Given the description of an element on the screen output the (x, y) to click on. 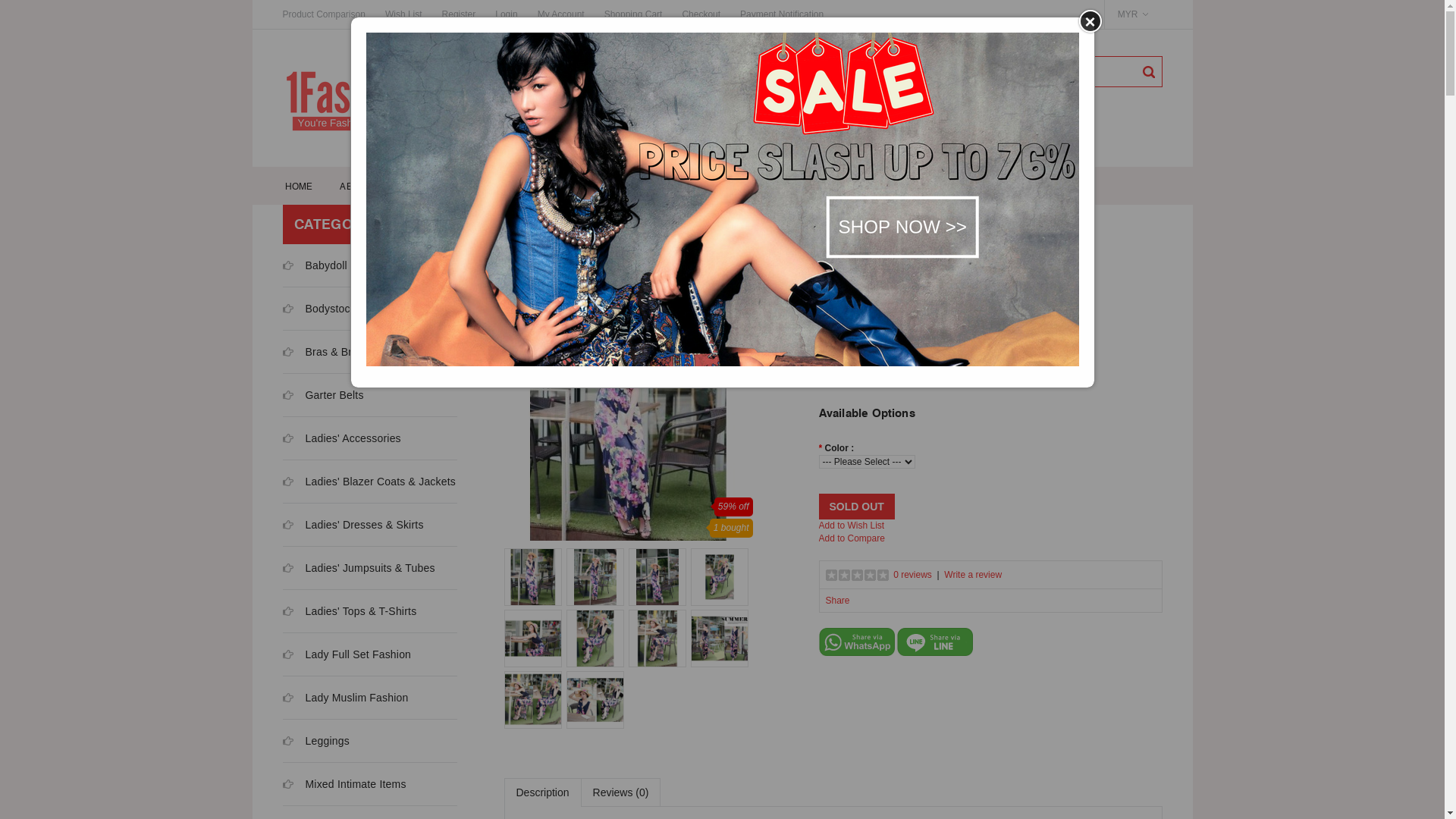
Fashion Bohemian Floral Design Long Maxi Dress Element type: hover (532, 699)
Wish List Element type: text (403, 14)
Fashion Bohemian Floral Design Long Maxi Dress Element type: hover (721, 576)
Garter Belts Element type: text (333, 395)
Lady Muslim Fashion Element type: text (355, 697)
TESTIMONIAL Element type: text (912, 185)
Fashion Bohemian Floral Design Long Maxi Dress Element type: hover (656, 576)
Fashion Bohemian Floral Design Long Maxi Dress Element type: hover (718, 576)
Write a review Element type: text (972, 574)
Fashion Bohemian Floral Design Long Maxi Dress Element type: hover (658, 576)
Fashion Bohemian Floral Design Long Maxi Dress Element type: hover (656, 638)
Leggings Element type: text (326, 740)
Fashion Bohemian Floral Design Long Maxi Dress Element type: hover (534, 638)
Babydoll Element type: text (325, 265)
Fashion Bohemian Floral Design Long Maxi Dress Element type: hover (594, 699)
Share Element type: text (837, 600)
Ladies' Dresses & Skirts Element type: text (363, 524)
HOME Element type: text (298, 185)
Fashion Bohemian Floral Design Long Maxi Dress Element type: hover (596, 576)
0 reviews Element type: text (912, 574)
Fashion Bohemian Floral Design Long Maxi Dress Element type: hover (534, 576)
INFORMATION Element type: text (816, 185)
Fashion Bohemian Floral Design Long Maxi Dress Element type: hover (532, 638)
Checkout Element type: text (700, 14)
Fashion Bohemian Floral Design Long Maxi Dress Element type: hover (532, 576)
Fashion Bohemian Floral Design Long Maxi Dress Element type: hover (594, 576)
Bodystockings Element type: text (339, 308)
Fashion Bohemian Floral Design Long Maxi Dress Element type: hover (596, 699)
Product Comparison Element type: text (328, 14)
Lady Full Set Fashion Element type: text (357, 654)
REWARD POINTS Element type: text (715, 185)
Payment Notification Element type: text (781, 14)
COUPON - RM5 OFF Element type: text (459, 185)
Ladies' Accessories Element type: text (352, 438)
Add to Wish List Element type: text (851, 525)
Login Element type: text (506, 14)
0 item(s) RM0.00 Element type: text (973, 62)
ABOUT US Element type: text (363, 185)
Fashion Bohemian Floral Design Long Maxi Dress Element type: hover (721, 638)
Ladies' Blazer Coats & Jackets Element type: text (379, 481)
Fashion Bohemian Floral Design Long Maxi Dress Element type: hover (627, 415)
Fashion Bohemian Floral Design Long Maxi Dress Element type: hover (534, 699)
Fashion Bohemian Floral Design Long Maxi Dress Element type: hover (718, 638)
Home Element type: text (515, 223)
1 bought
59% off Element type: text (627, 415)
Description Element type: text (541, 792)
1FashionHouse.com PLT Element type: hover (395, 99)
Fashion Bohemian Floral Design Long Maxi Dress Element type: hover (596, 638)
Reviews (0) Element type: text (620, 792)
Ladies' Tops & T-Shirts Element type: text (360, 611)
CONTACT US Element type: text (1000, 185)
Fashion Bohemian Floral Design Long Maxi Dress Element type: hover (594, 638)
Ladies' Jumpsuits & Tubes Element type: text (369, 567)
Fashion Bohemian Floral Design Long Maxi Dress Element type: hover (658, 638)
Mixed Intimate Items Element type: text (354, 784)
Fashion Bohemian Floral Design Long Maxi Dress Element type: text (639, 223)
Add to Compare Element type: text (851, 538)
Shopping Cart Element type: text (633, 14)
Register Element type: text (459, 14)
FREE SHIPPING = RM150* Element type: text (589, 185)
Bras & Bra Sets Element type: text (343, 351)
My Account Element type: text (560, 14)
